Given the description of an element on the screen output the (x, y) to click on. 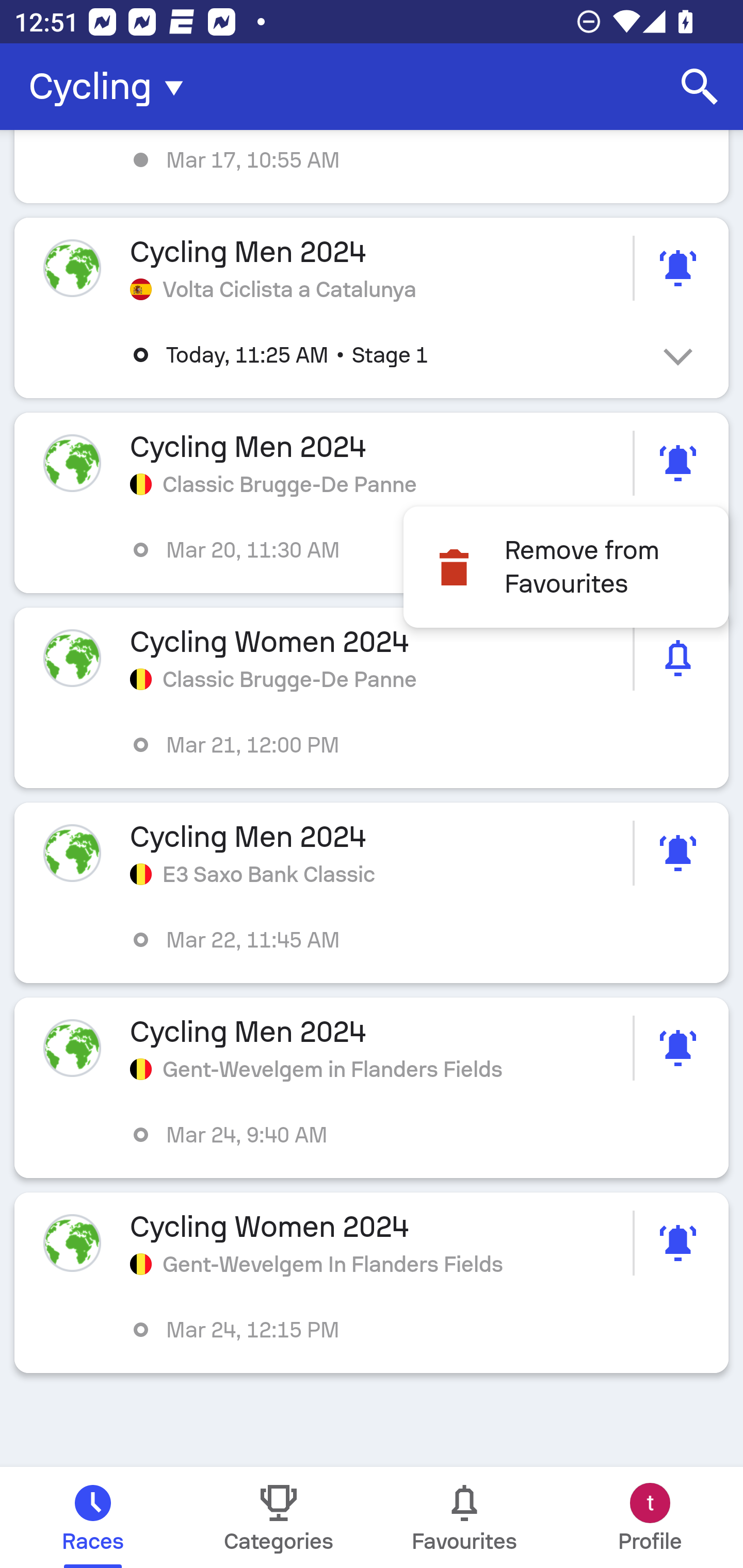
Remove from Favourites (565, 566)
